Given the description of an element on the screen output the (x, y) to click on. 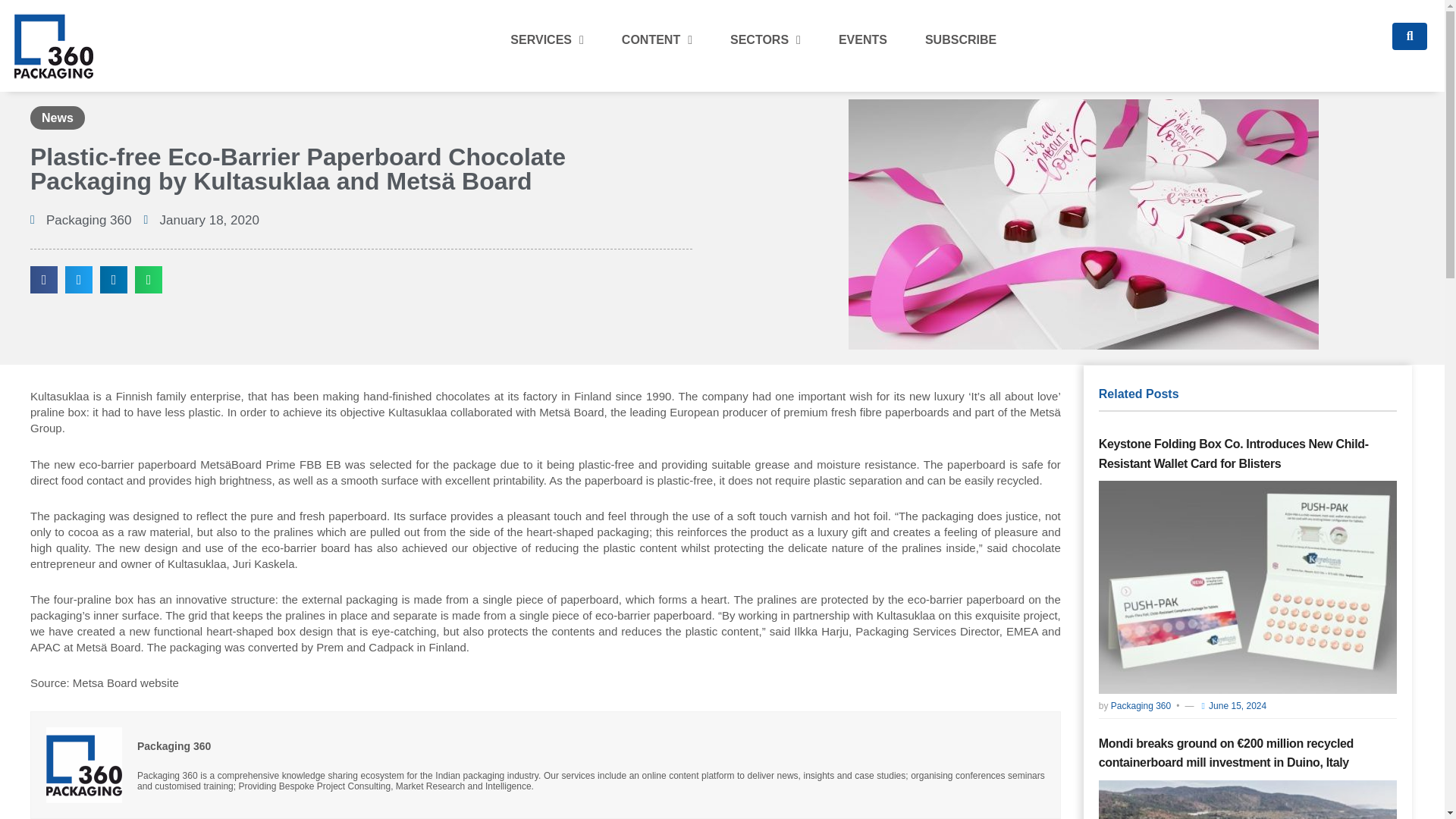
SUBSCRIBE (960, 39)
CONTENT (657, 39)
SERVICES (546, 39)
SECTORS (764, 39)
EVENTS (863, 39)
